Given the description of an element on the screen output the (x, y) to click on. 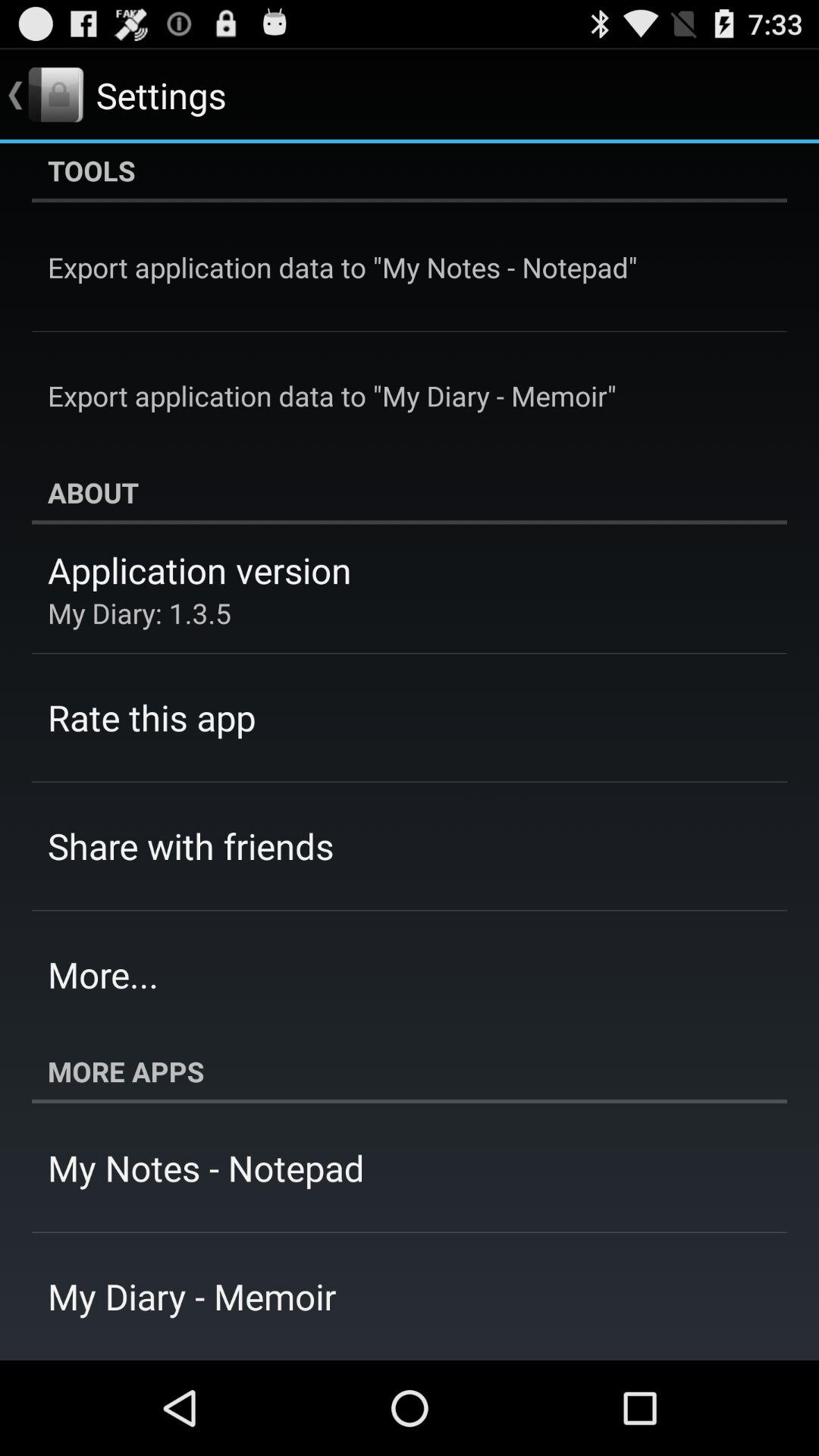
scroll to the share with friends app (190, 845)
